Given the description of an element on the screen output the (x, y) to click on. 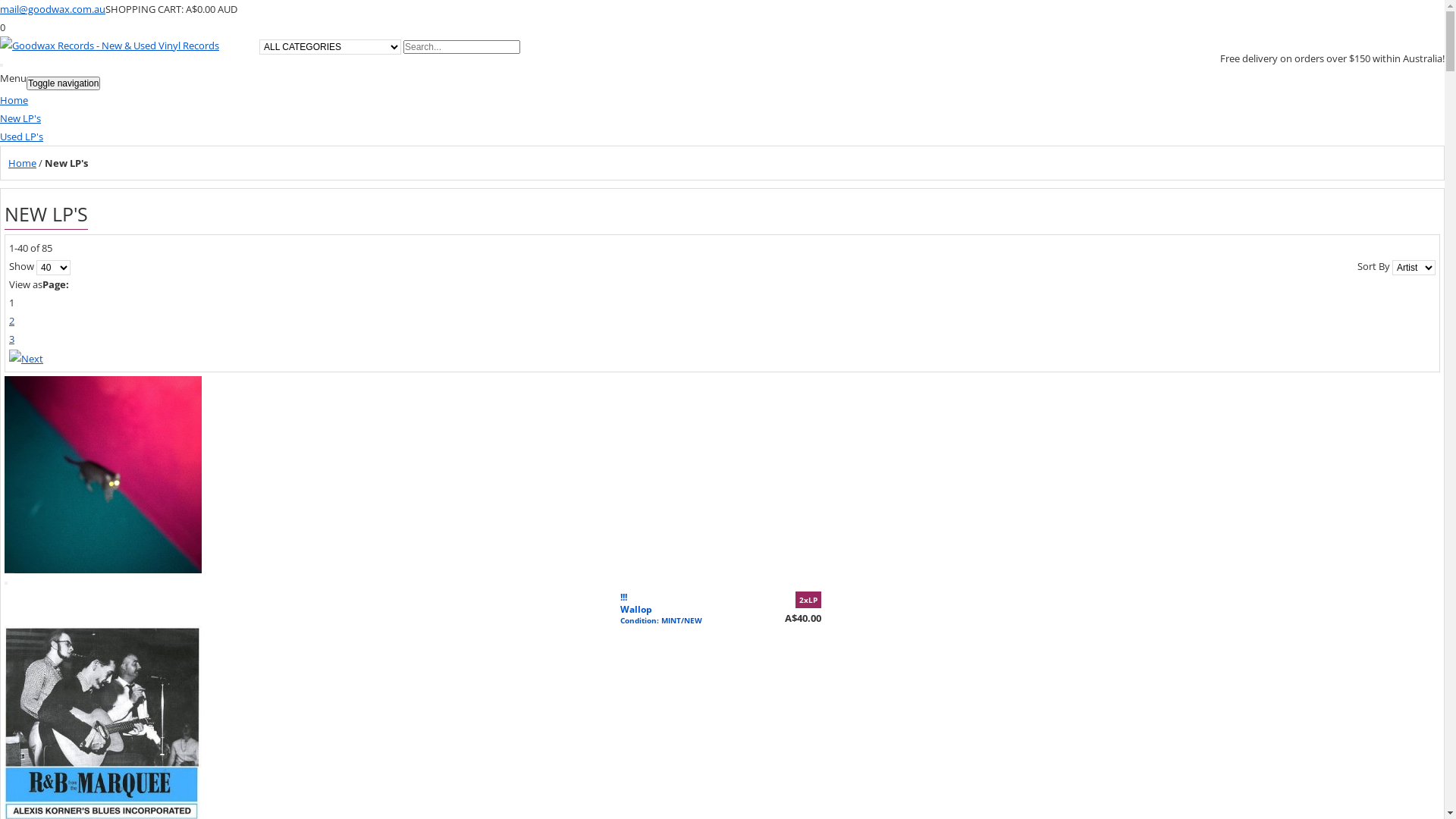
Home Element type: text (22, 162)
3 Element type: text (11, 338)
Add to Cart Element type: hover (5, 582)
!!! - Wallop - Green and Pink Vinyl 2xLP Element type: hover (102, 385)
!!!

Wallop

Condition: MINT/NEW Element type: text (664, 615)
Next Element type: hover (26, 357)
Goodwax Records - New & Used Vinyl Records Element type: hover (113, 45)
Used LP's Element type: text (21, 136)
Toggle navigation Element type: text (63, 83)
2 Element type: text (11, 320)
Home Element type: text (14, 99)
mail@goodwax.com.au Element type: text (52, 8)
New LP's Element type: text (20, 118)
